Given the description of an element on the screen output the (x, y) to click on. 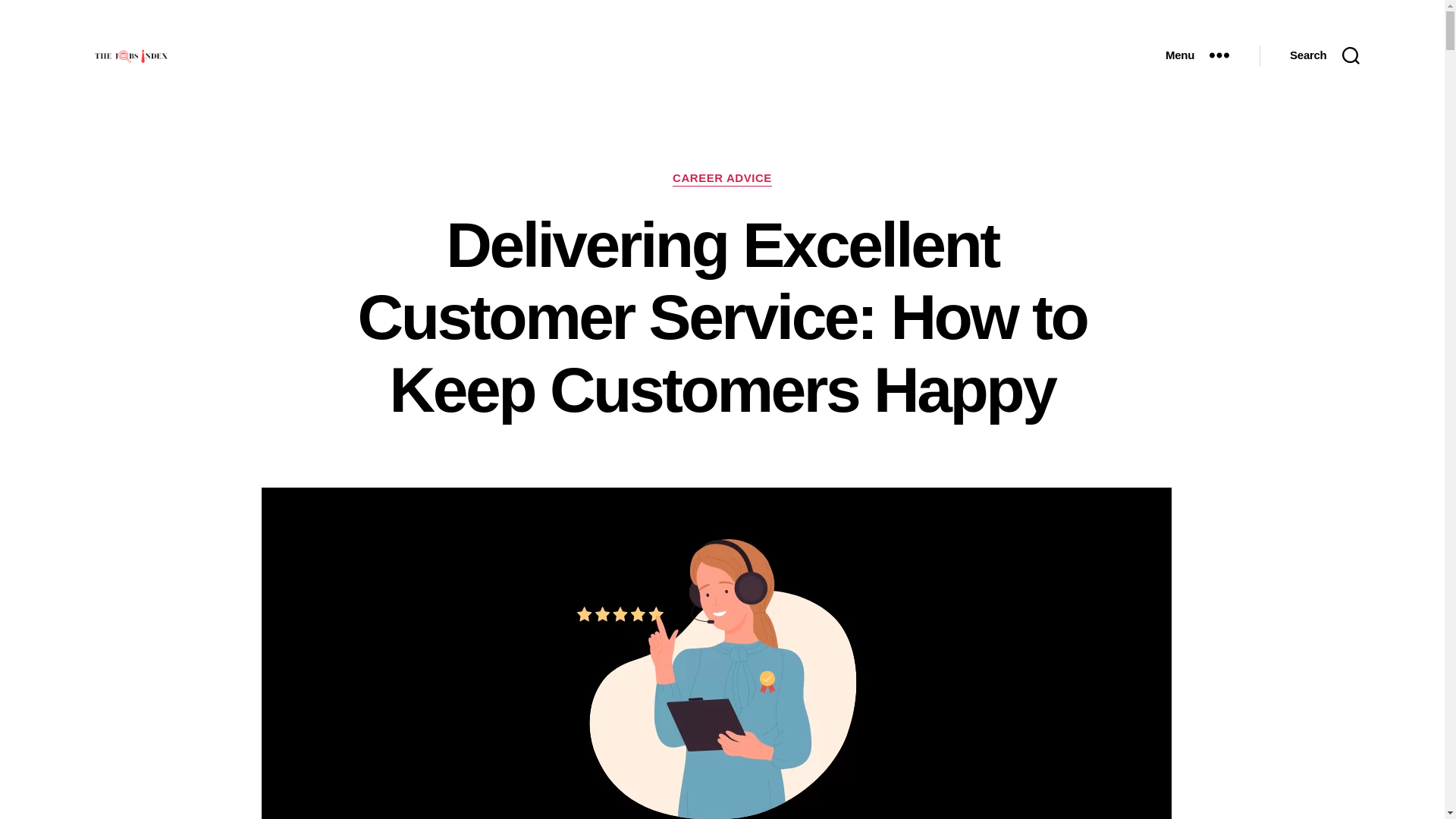
CAREER ADVICE (721, 178)
Menu (1197, 55)
Search (1324, 55)
